Given the description of an element on the screen output the (x, y) to click on. 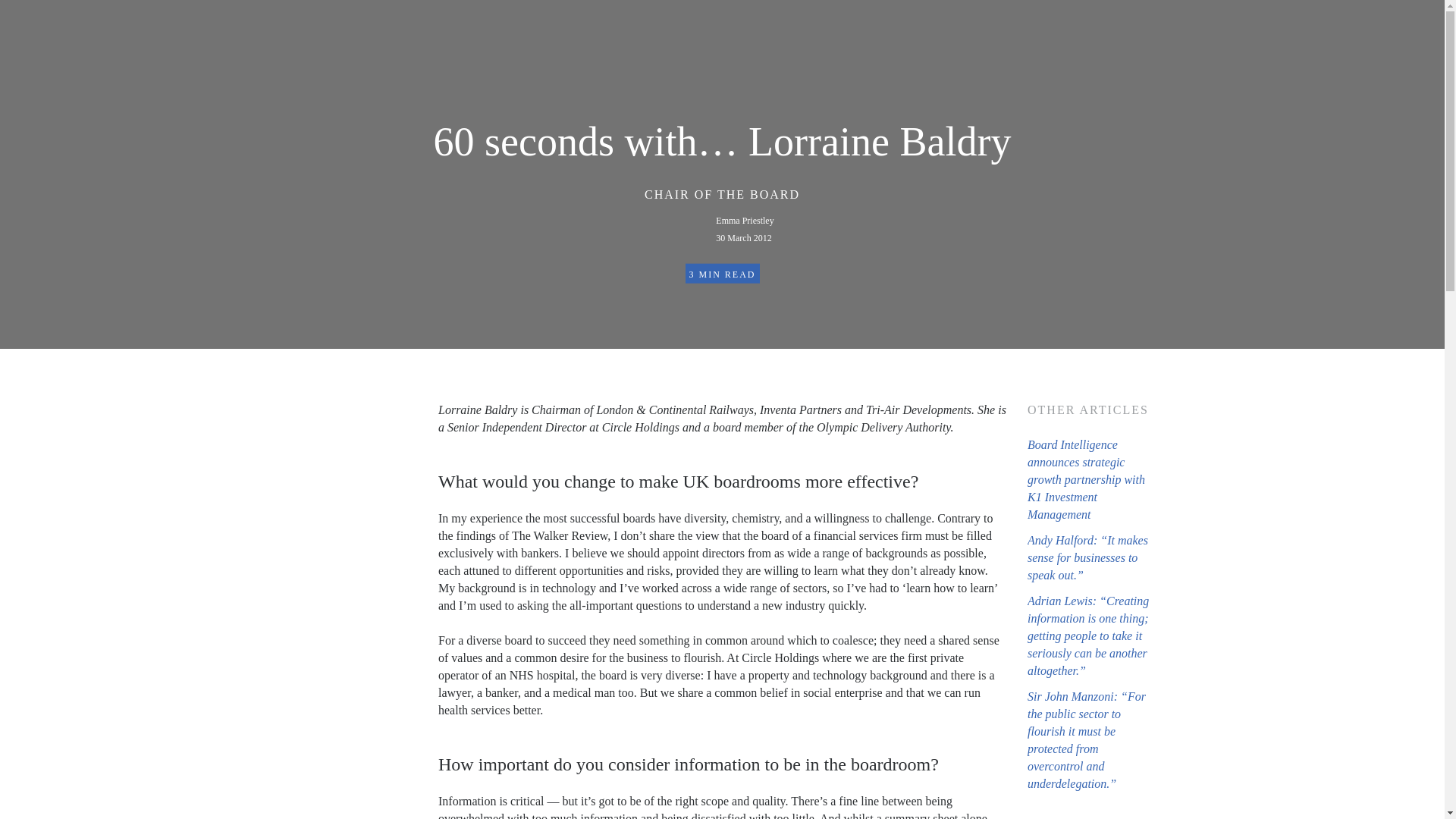
View Emma Priestley Page (744, 229)
